Given the description of an element on the screen output the (x, y) to click on. 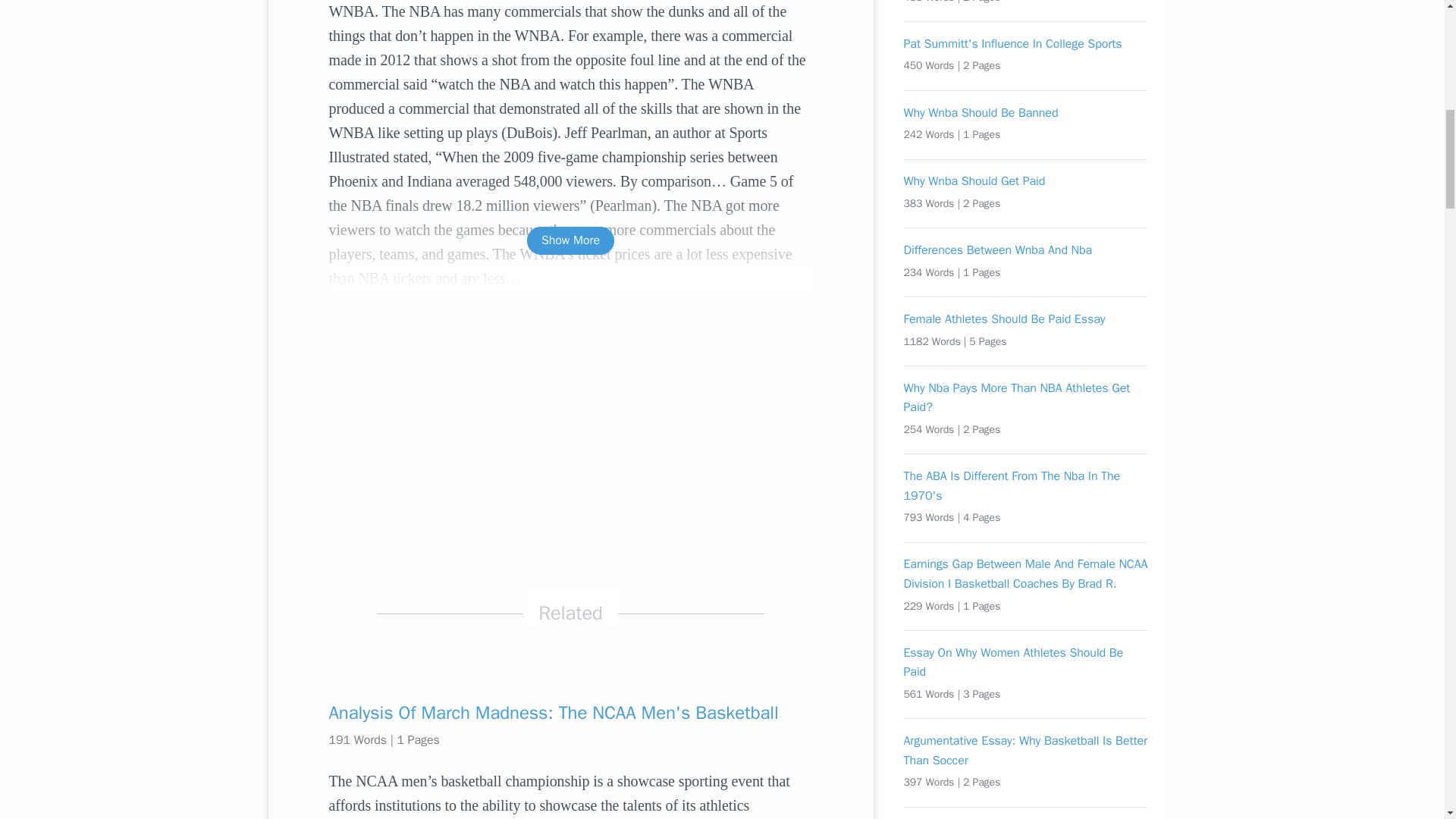
Analysis Of March Madness: The NCAA Men's Basketball (570, 712)
Show More (570, 240)
